Given the description of an element on the screen output the (x, y) to click on. 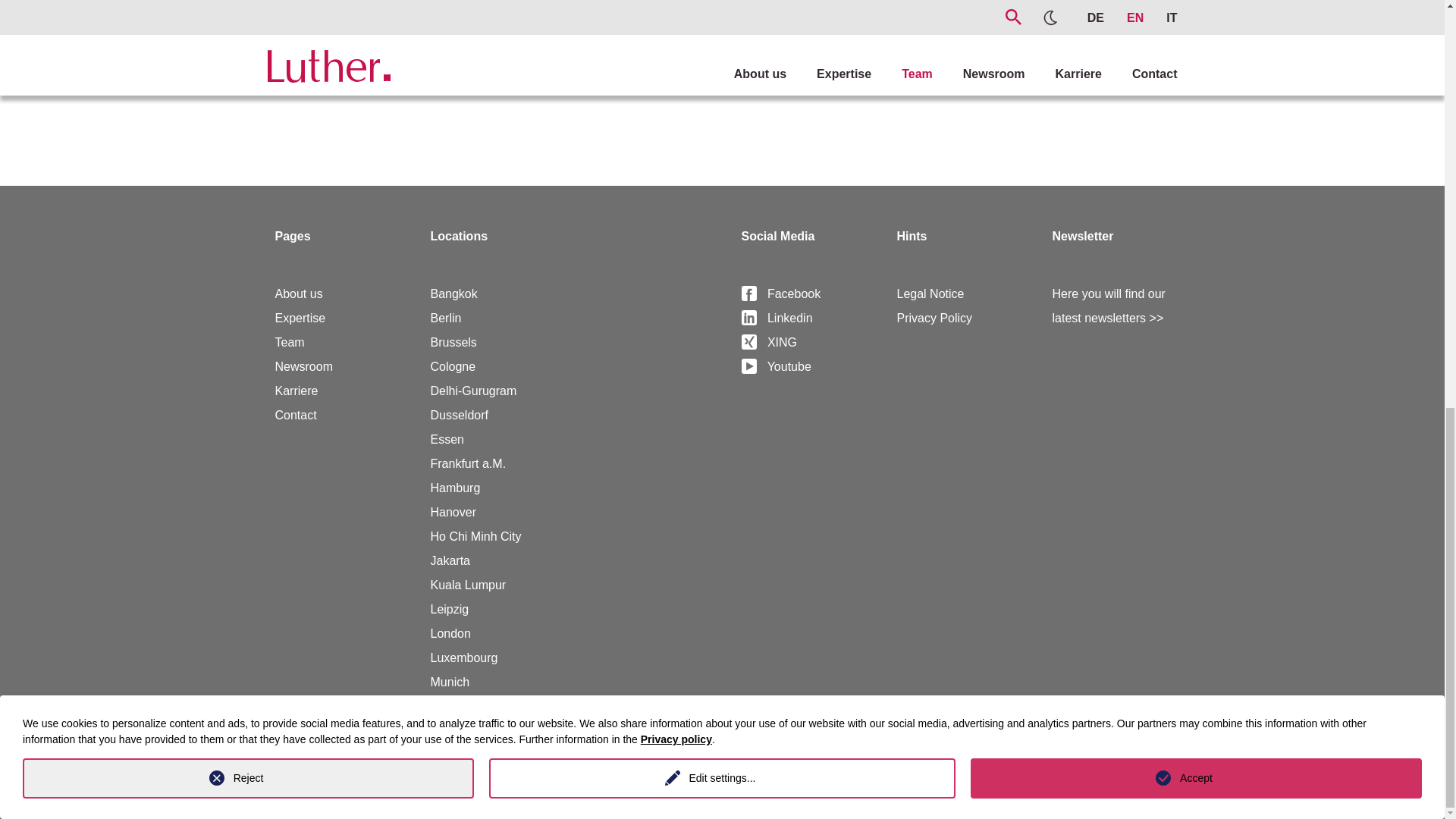
Dusseldorf (458, 414)
London (450, 633)
Hamburg (455, 487)
Team (289, 341)
Brussels (453, 341)
Cologne (453, 366)
Delhi-Gurugram (473, 390)
Karriere (296, 390)
Team (289, 341)
Contact (295, 414)
Karriere (296, 390)
Essen (447, 439)
About us (298, 293)
Hanover (453, 512)
Newsroom (303, 366)
